Given the description of an element on the screen output the (x, y) to click on. 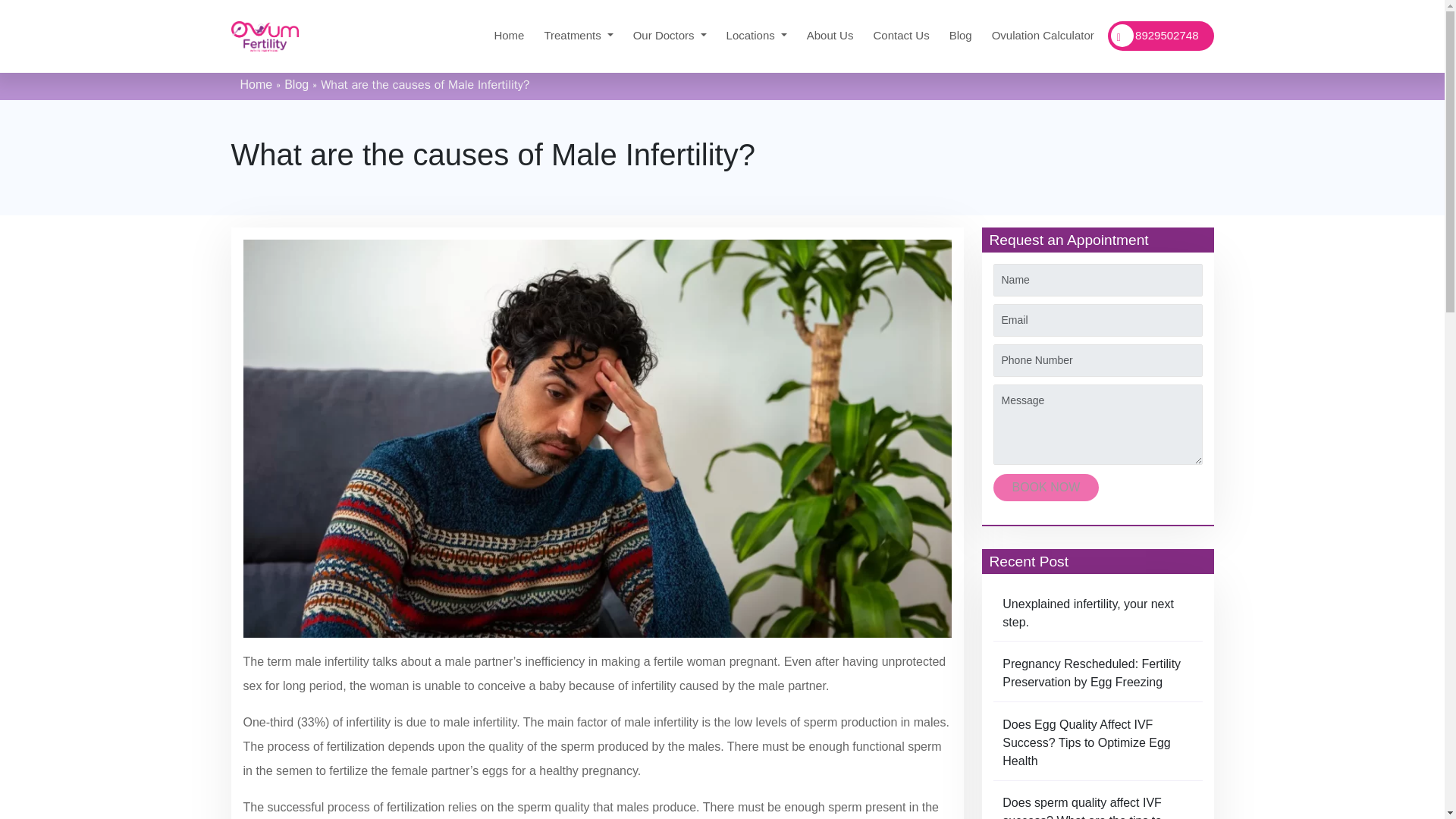
About Us (830, 35)
Blog (960, 35)
Book Now (1045, 487)
Home (256, 83)
Treatments (577, 35)
Ovum Fertility (264, 36)
Locations (756, 35)
Home (508, 35)
8929502748 (1161, 35)
Our Doctors (670, 35)
Home (508, 35)
Ovulation Calculator (1042, 35)
Treatments (577, 35)
Contact Us (900, 35)
